Given the description of an element on the screen output the (x, y) to click on. 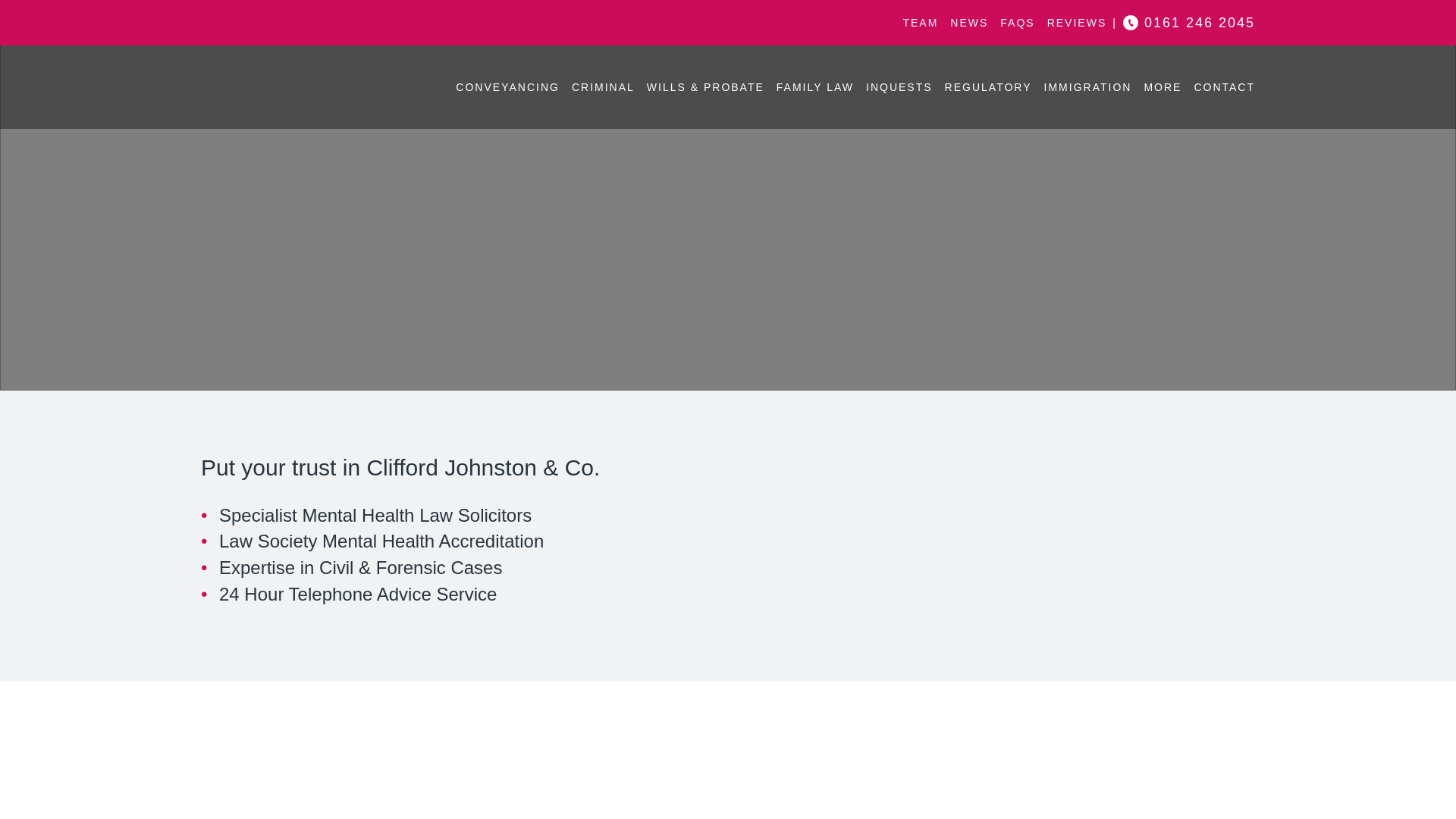
TEAM (919, 22)
0161 246 2045 (1199, 22)
NEWS (969, 22)
Telephone (1199, 22)
REVIEWS (1076, 22)
CRIMINAL (603, 87)
CONVEYANCING (507, 87)
FAQS (1016, 22)
